Given the description of an element on the screen output the (x, y) to click on. 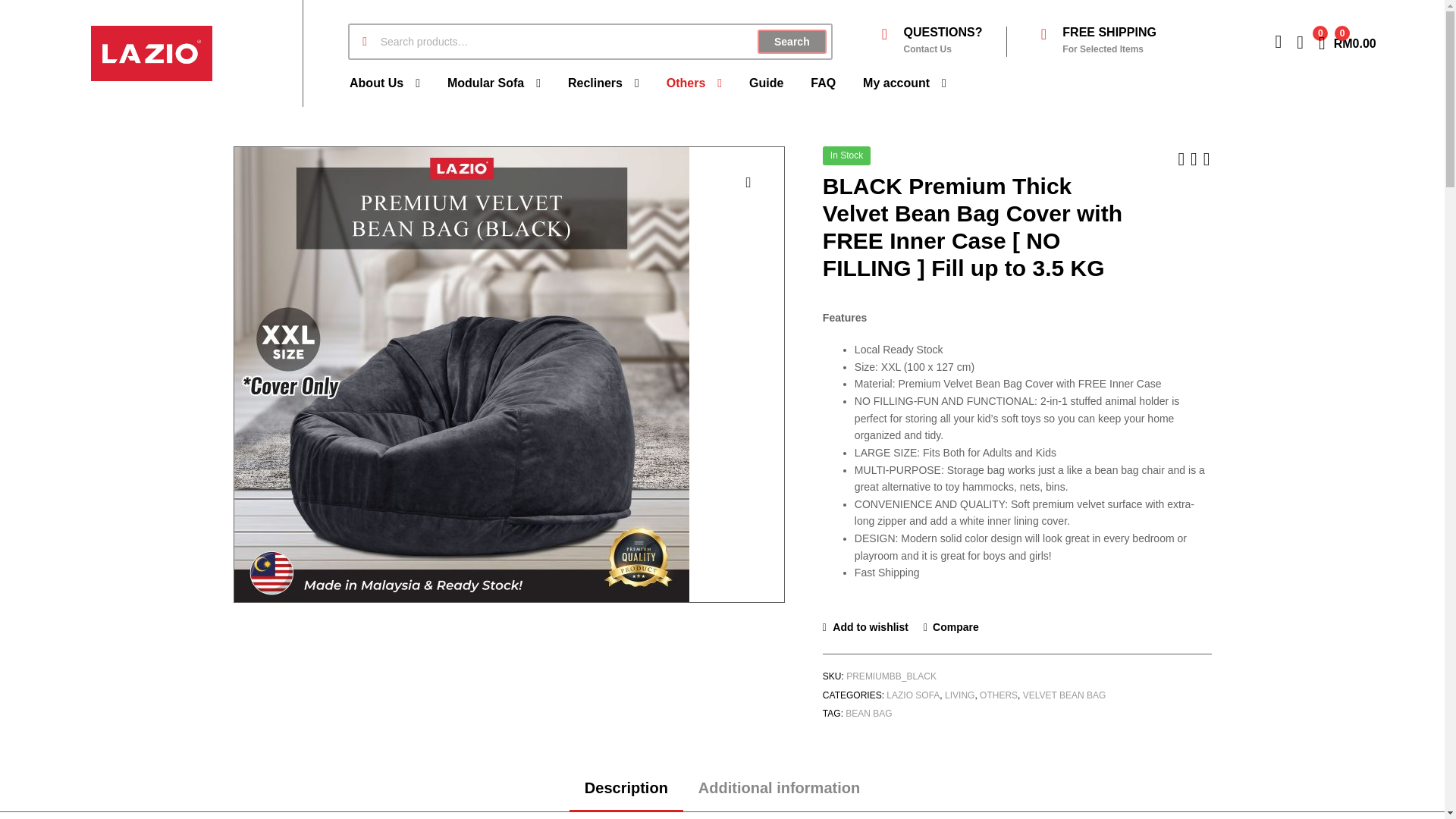
View your shopping cart (1347, 41)
Search (791, 41)
About Us (1347, 41)
QUESTIONS? (384, 83)
Recliners (941, 31)
Modular Sofa (603, 83)
Others (494, 83)
